Given the description of an element on the screen output the (x, y) to click on. 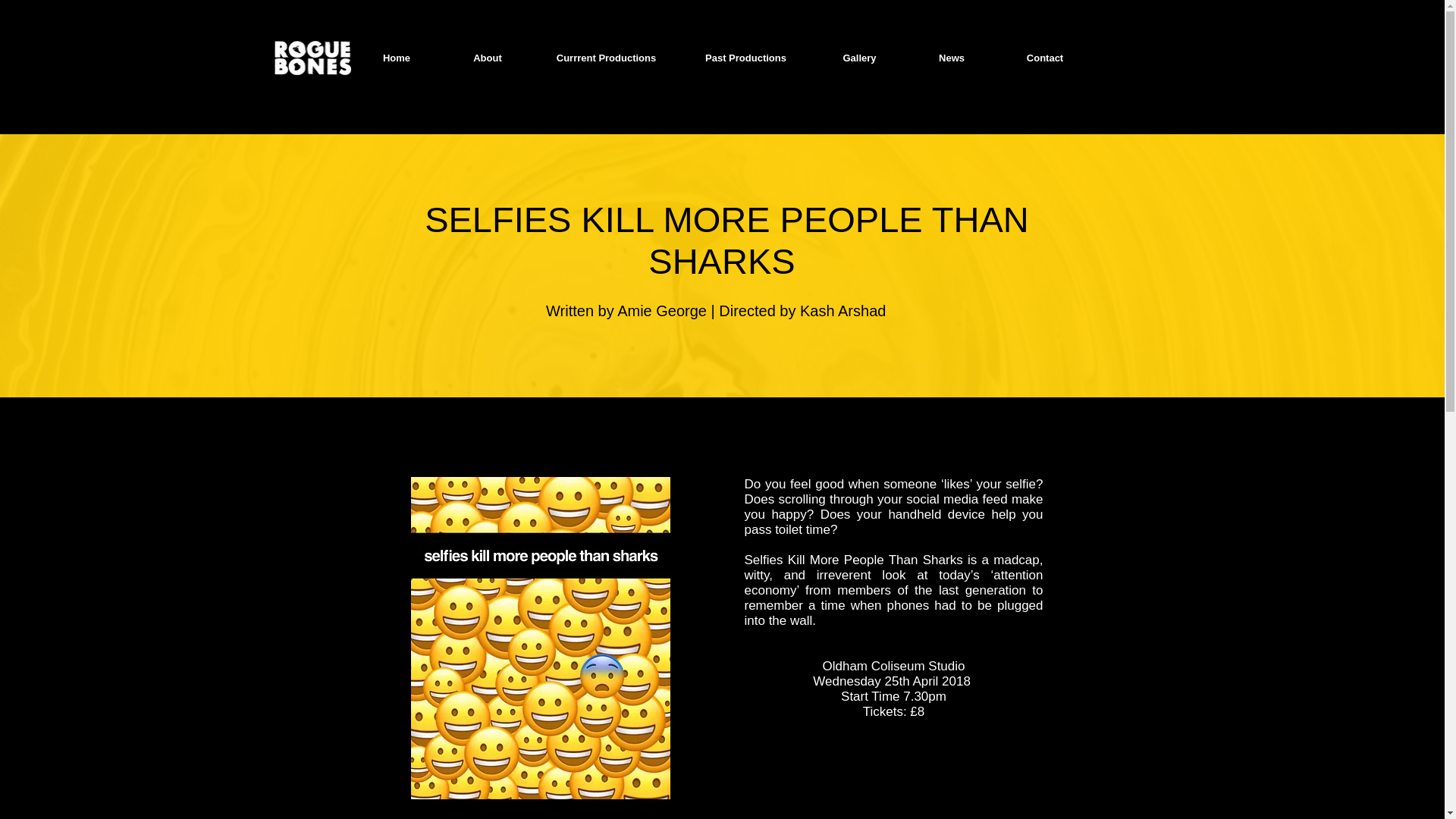
About (487, 57)
Contact (1044, 57)
News (951, 57)
Gallery (858, 57)
Home (396, 57)
